Given the description of an element on the screen output the (x, y) to click on. 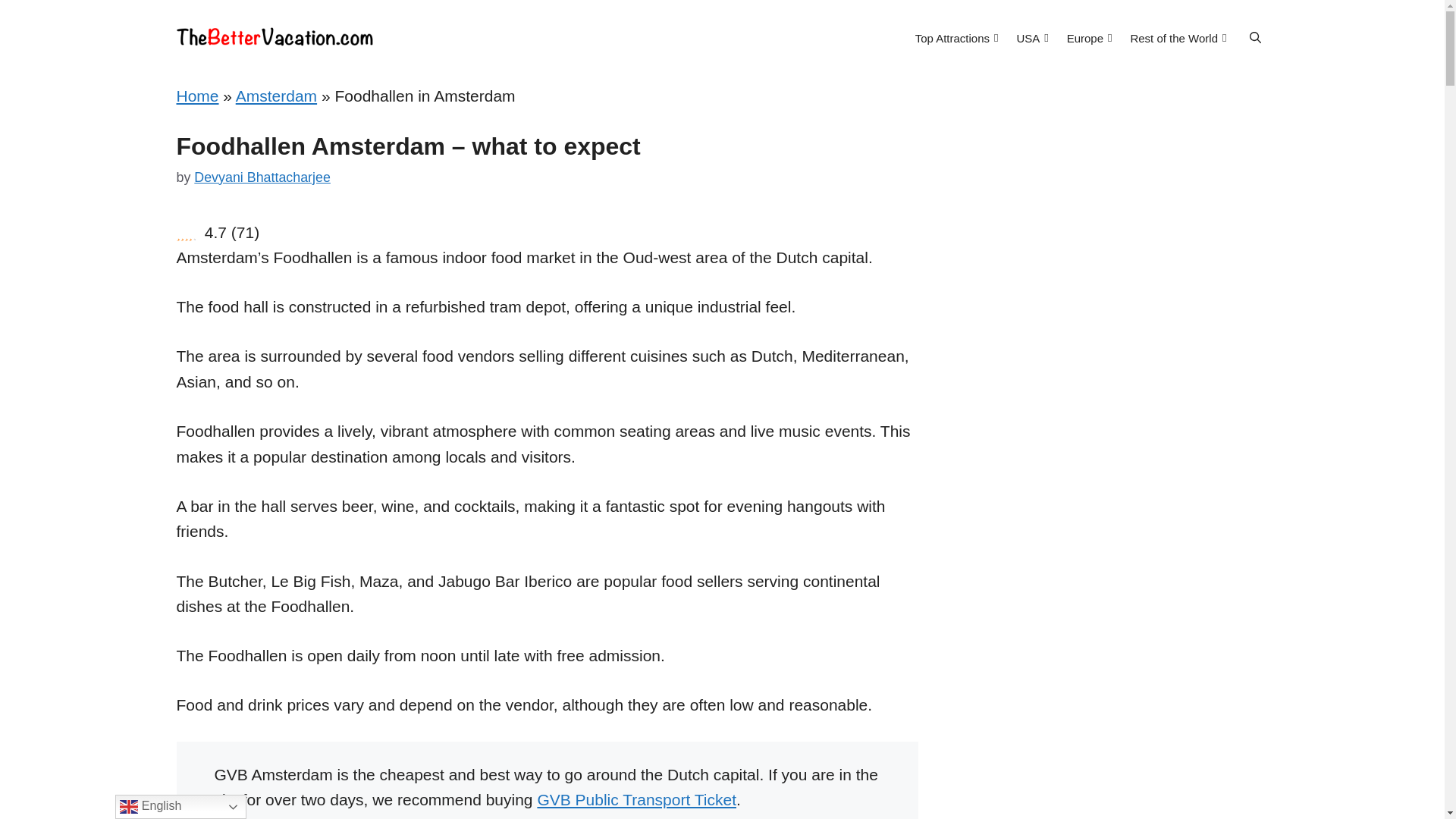
Europe (1089, 37)
Top Attractions (956, 37)
USA (1032, 37)
